Given the description of an element on the screen output the (x, y) to click on. 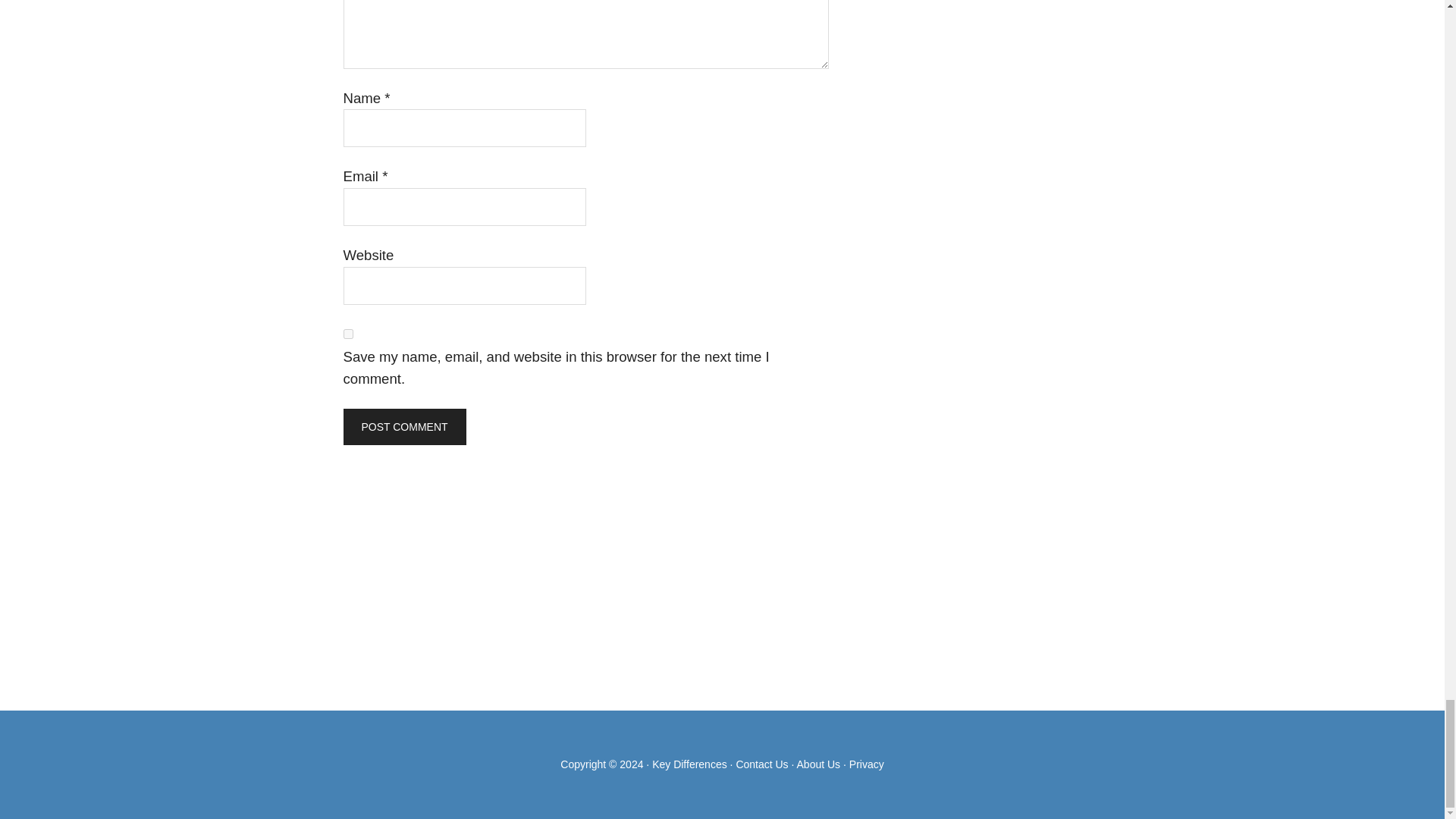
yes (347, 334)
Contact Us (761, 764)
Post Comment (403, 426)
Post Comment (403, 426)
About Us (818, 764)
Privacy (865, 764)
